Given the description of an element on the screen output the (x, y) to click on. 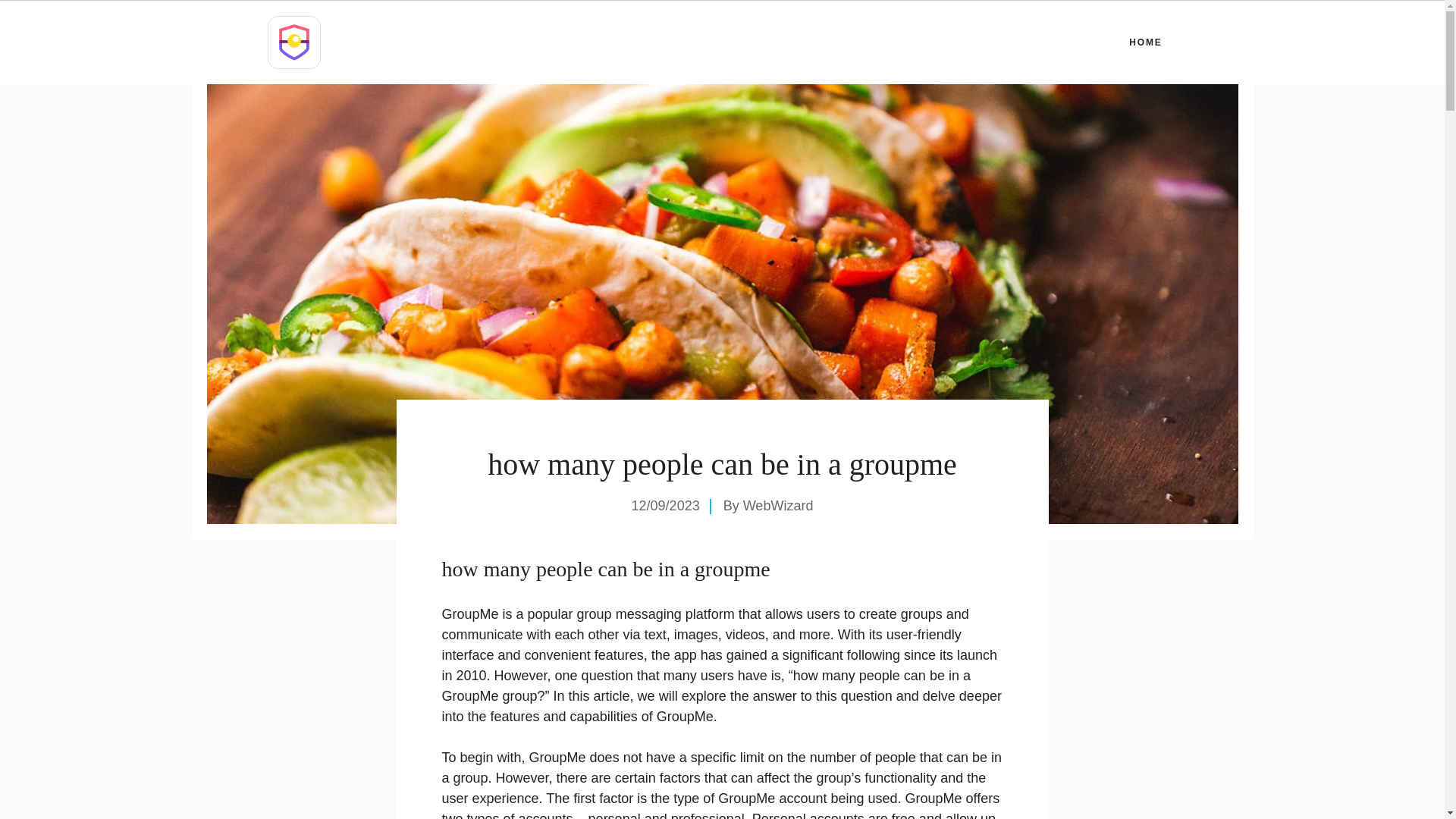
WebWizard (777, 505)
HOME (1144, 42)
